Given the description of an element on the screen output the (x, y) to click on. 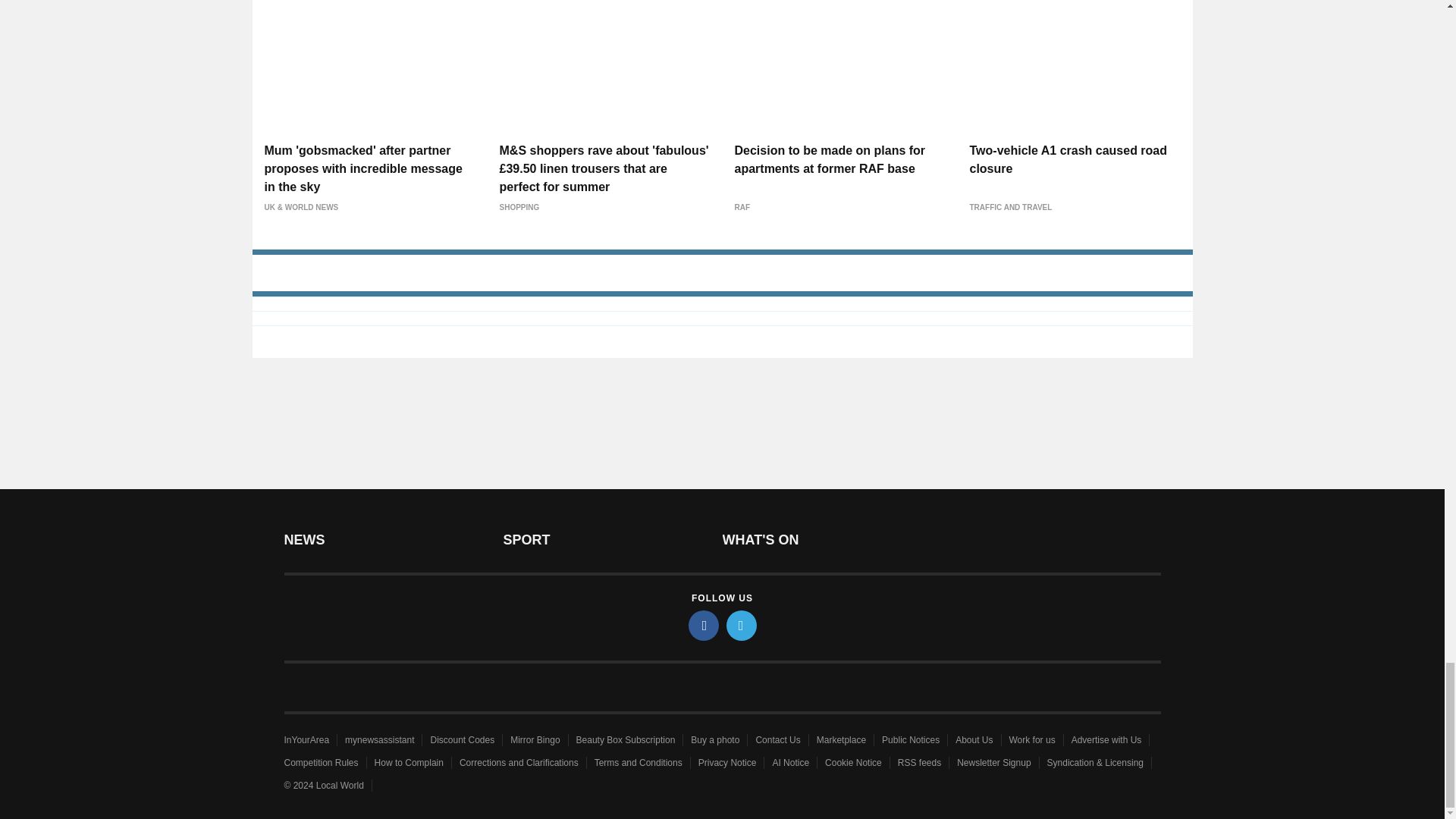
twitter (741, 625)
facebook (703, 625)
